Given the description of an element on the screen output the (x, y) to click on. 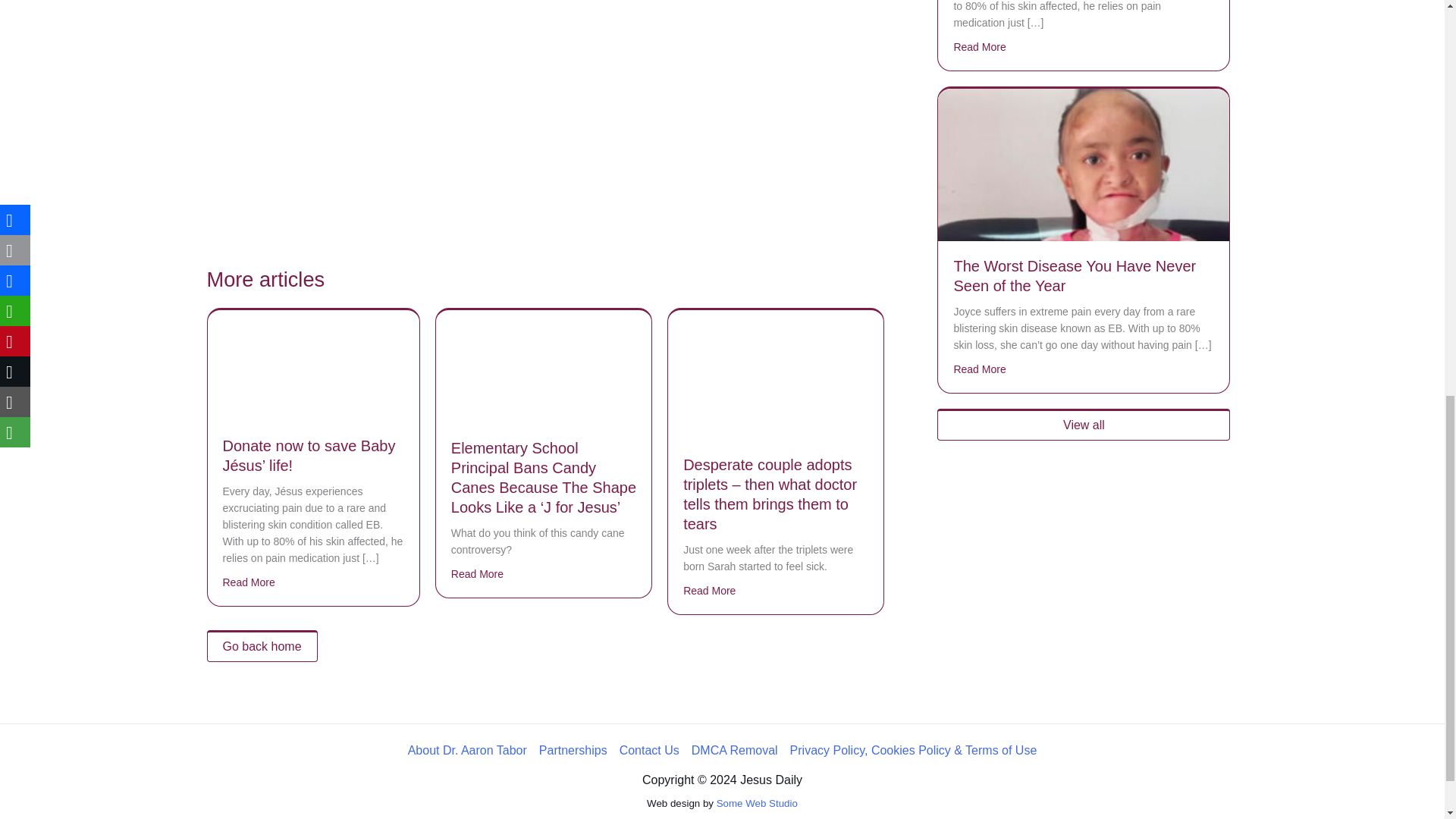
DMCA Removal (734, 750)
Read More (979, 369)
About Dr. Aaron Tabor (469, 750)
Read More (979, 46)
Contact Us (648, 750)
Read More (248, 582)
Read More (477, 573)
Partnerships (572, 750)
Read More (708, 590)
Go back home (261, 645)
The Worst Disease You Have Never Seen of the Year (1074, 275)
View all (1083, 424)
